Given the description of an element on the screen output the (x, y) to click on. 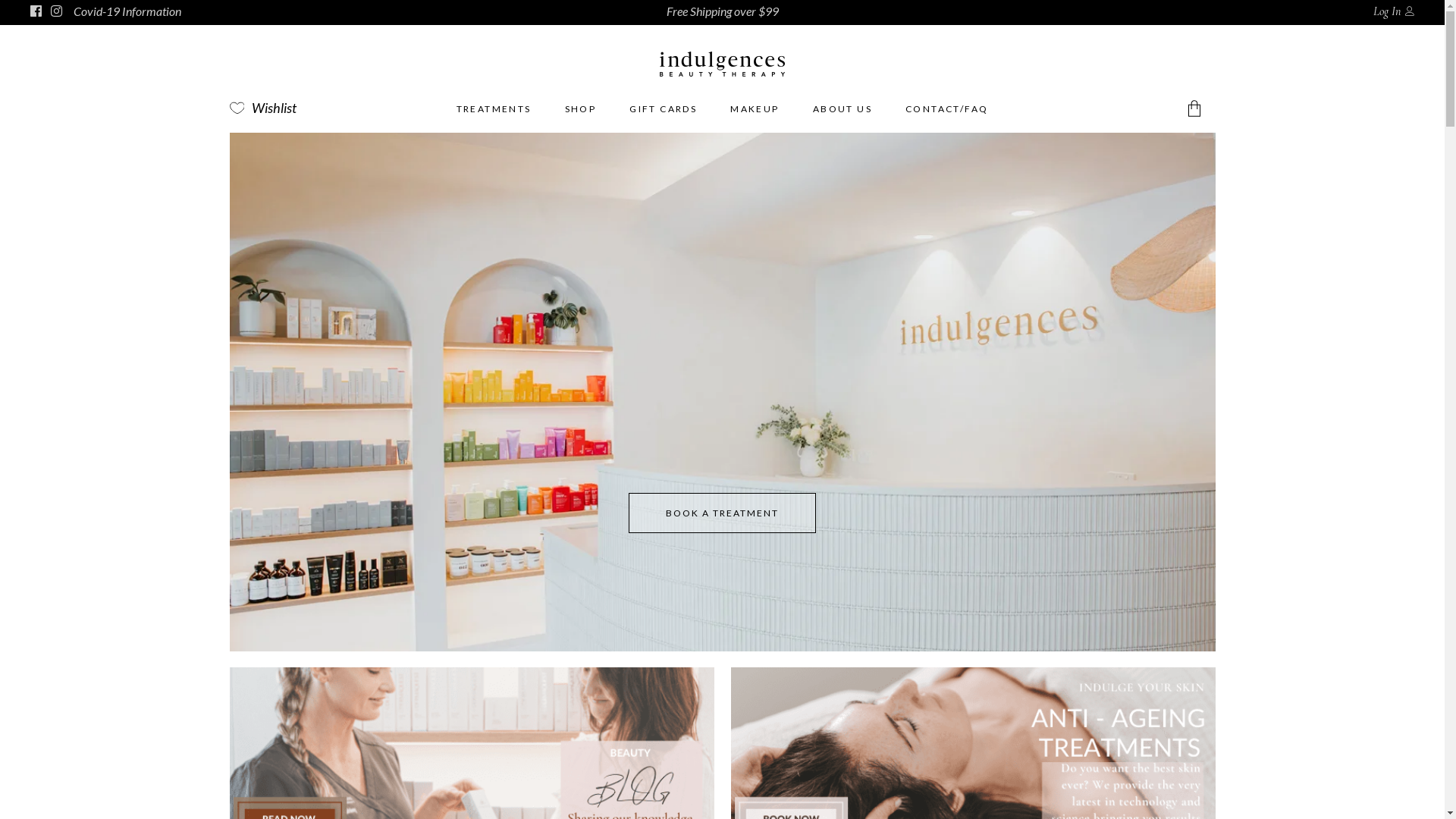
Log In Element type: text (1393, 10)
TREATMENTS Element type: text (493, 108)
Covid-19 Information Element type: text (127, 10)
CONTACT/FAQ Element type: text (946, 108)
ABOUT US Element type: text (842, 108)
Wishlist Element type: text (265, 108)
GIFT CARDS Element type: text (662, 108)
SHOP Element type: text (580, 108)
BOOK A TREATMENT Element type: text (721, 512)
MAKEUP Element type: text (754, 108)
